Given the description of an element on the screen output the (x, y) to click on. 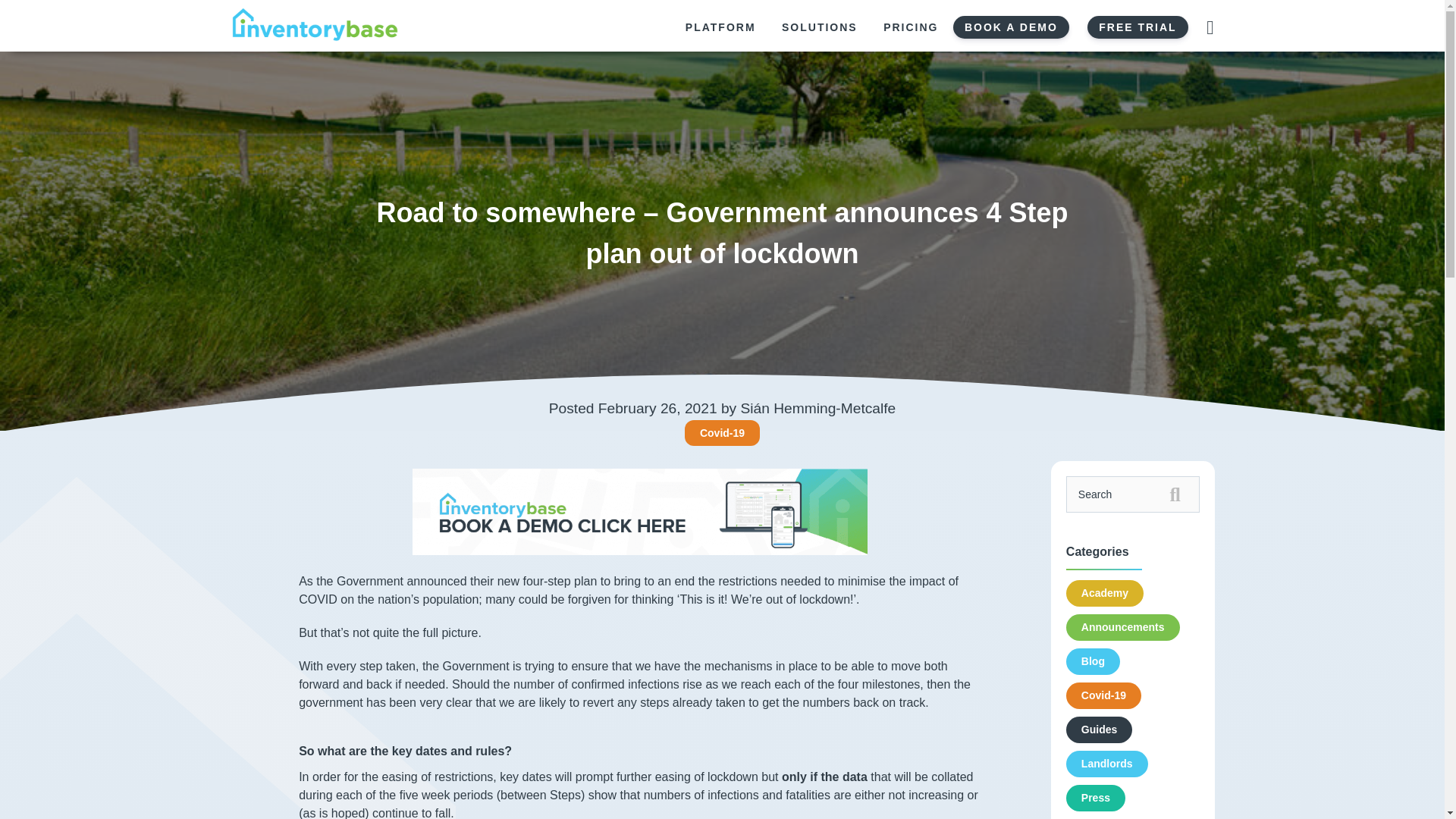
Guides (1098, 729)
Search (1132, 493)
Press (1095, 797)
Covid-19 (722, 432)
PRICING (910, 27)
Covid-19 (1103, 695)
Blog (1092, 661)
Academy (1103, 592)
SOLUTIONS (819, 27)
FREE TRIAL (1137, 26)
Announcements (1122, 627)
PLATFORM (720, 27)
Landlords (1106, 764)
BOOK A DEMO (1010, 26)
easing of restrictions (435, 776)
